Given the description of an element on the screen output the (x, y) to click on. 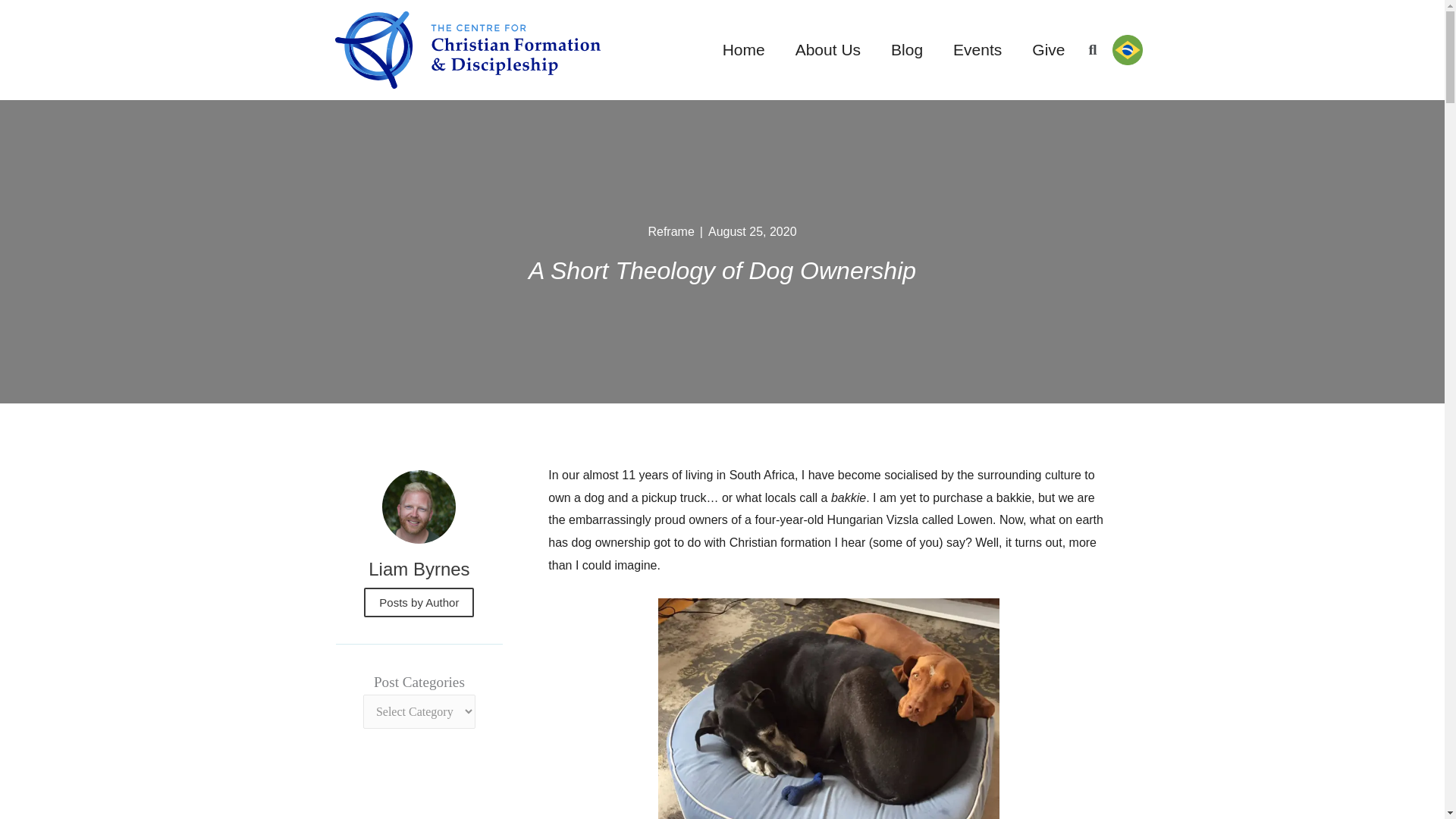
Blog (906, 49)
Home (743, 49)
Reframe (670, 231)
Events (976, 49)
8:00 AM (751, 231)
Give (1048, 49)
About Us (828, 49)
